Given the description of an element on the screen output the (x, y) to click on. 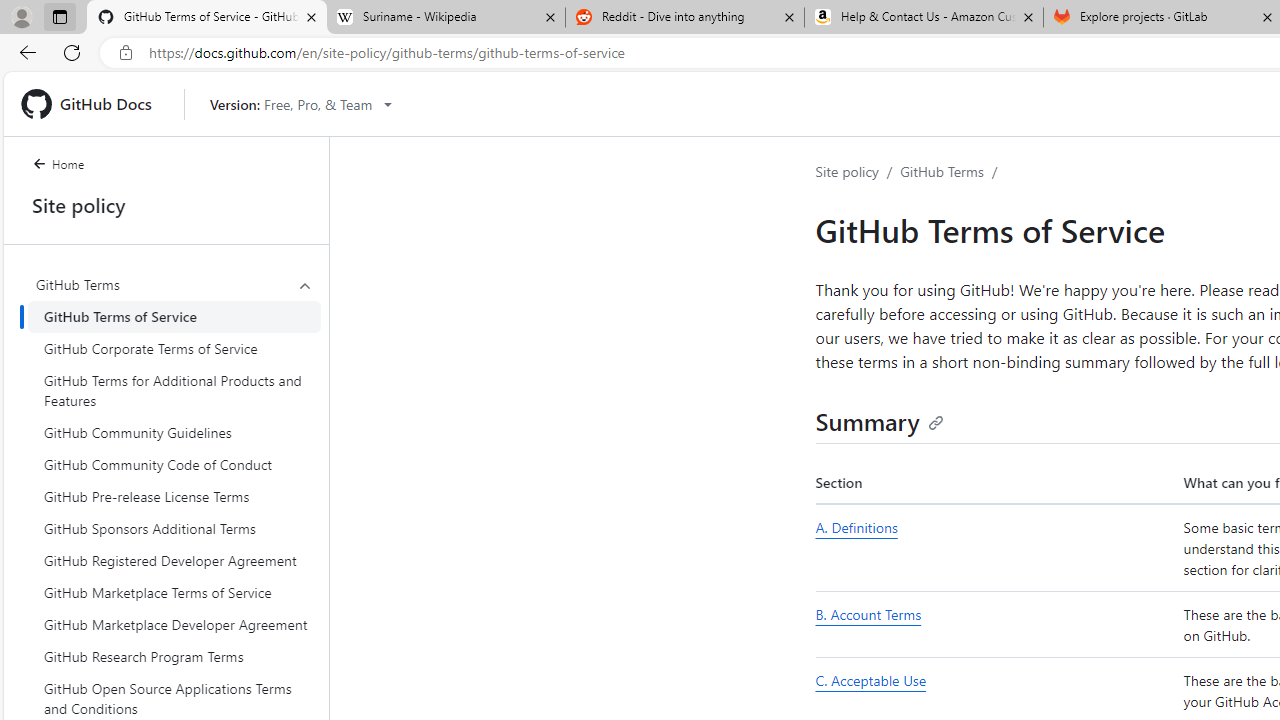
GitHub Pre-release License Terms (174, 496)
GitHub Terms/ (952, 171)
Summary (879, 420)
GitHub Community Guidelines (174, 432)
Site policy/ (858, 171)
B. Account Terms (868, 614)
GitHub Pre-release License Terms (174, 496)
GitHub Marketplace Terms of Service (174, 592)
B. Account Terms (995, 624)
Reddit - Dive into anything (684, 17)
GitHub Research Program Terms (174, 656)
